Given the description of an element on the screen output the (x, y) to click on. 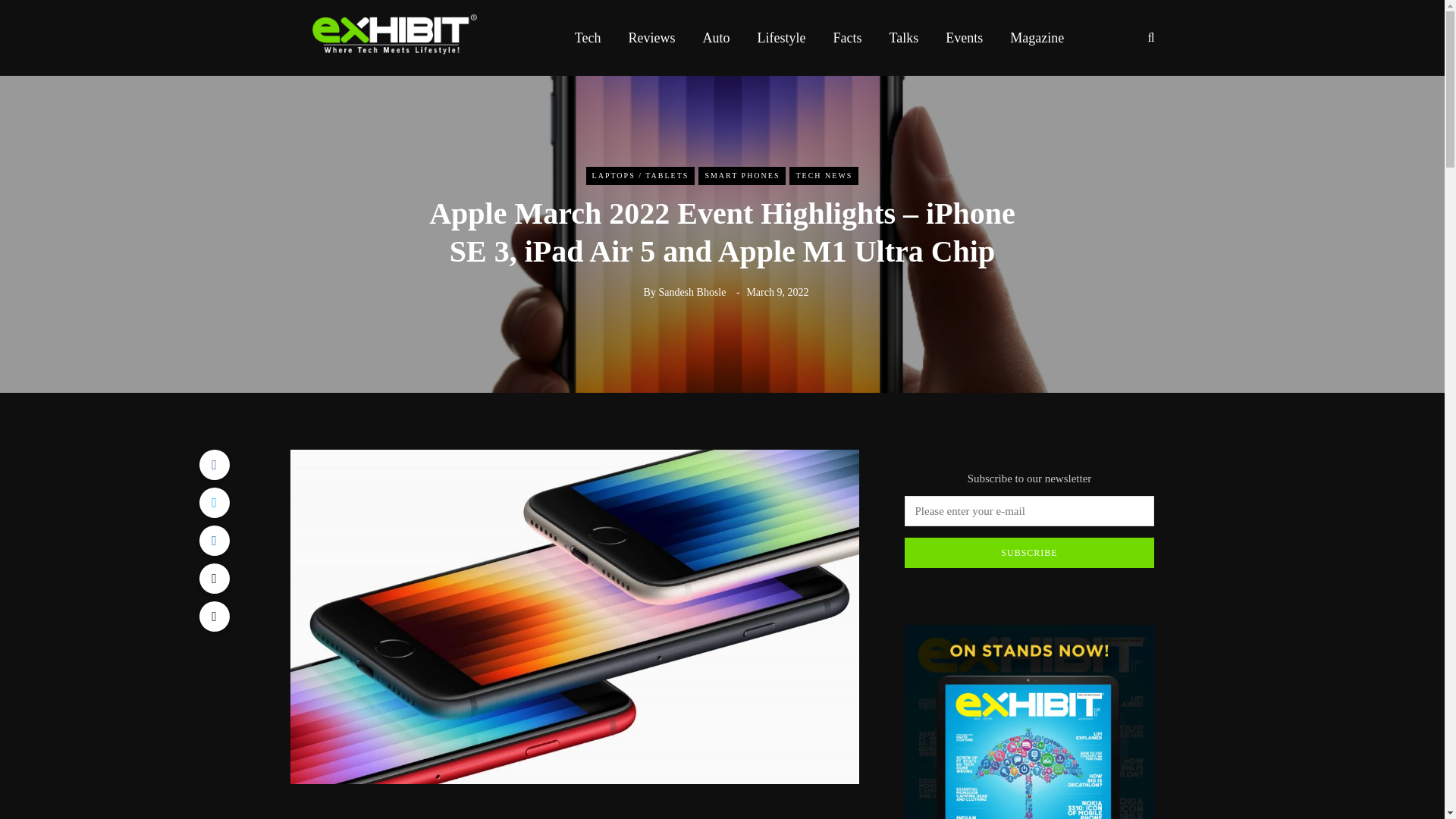
Lifestyle (781, 37)
Reviews (651, 37)
Auto (716, 37)
Tech (587, 37)
Share with Facebook (213, 464)
Tweet this (213, 502)
Posts by Sandesh Bhosle (691, 292)
Share by Email (213, 616)
Share to WhatsApp (213, 578)
Share with LinkedIn (213, 540)
